Given the description of an element on the screen output the (x, y) to click on. 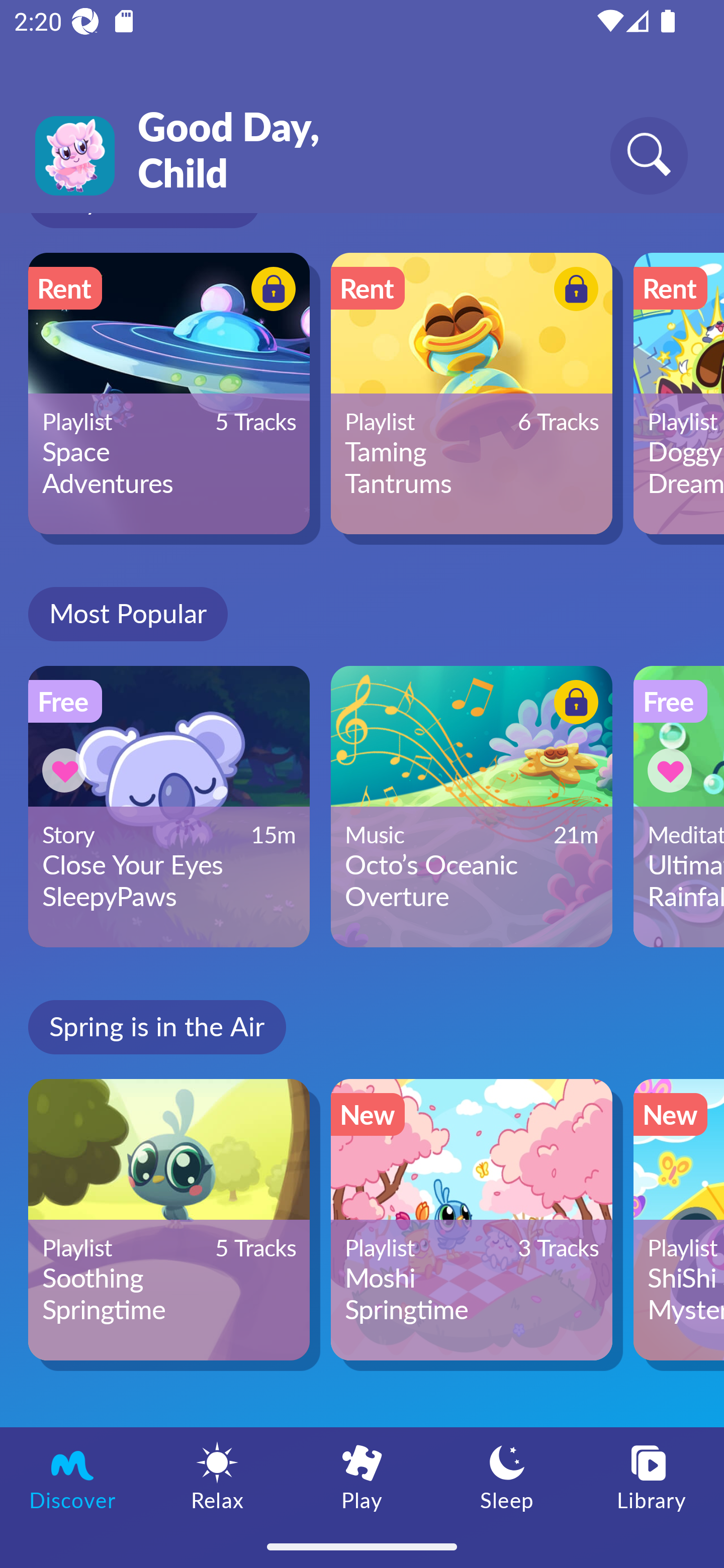
Search (648, 154)
Button (269, 291)
Button (573, 291)
Button (573, 705)
Button (67, 769)
Button (672, 769)
Relax (216, 1475)
Play (361, 1475)
Sleep (506, 1475)
Library (651, 1475)
